Given the description of an element on the screen output the (x, y) to click on. 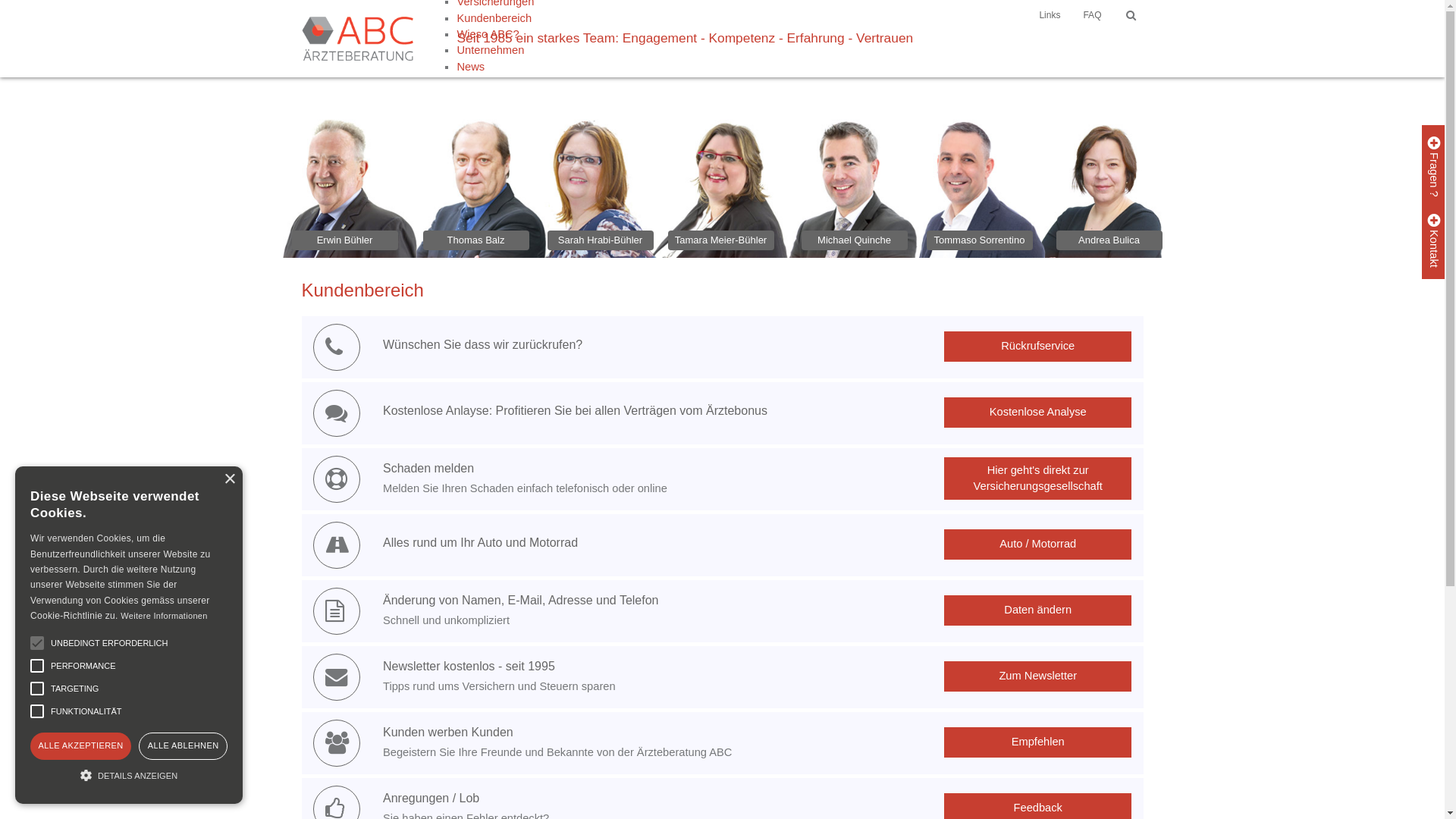
Unternehmen Element type: text (494, 50)
Auto / Motorrad Element type: text (1038, 544)
Kostenlose Analyse Element type: text (1038, 412)
FAQ Element type: text (1091, 14)
Zum Newsletter Element type: text (1038, 676)
Kundenbereich Element type: text (494, 18)
Wieso ABC? Element type: text (494, 34)
News Element type: text (494, 67)
Hier geht's direkt zur Versicherungsgesellschaft Element type: text (1038, 478)
Weitere Informationen Element type: text (163, 615)
Links Element type: text (1049, 14)
Empfehlen Element type: text (1038, 742)
